Given the description of an element on the screen output the (x, y) to click on. 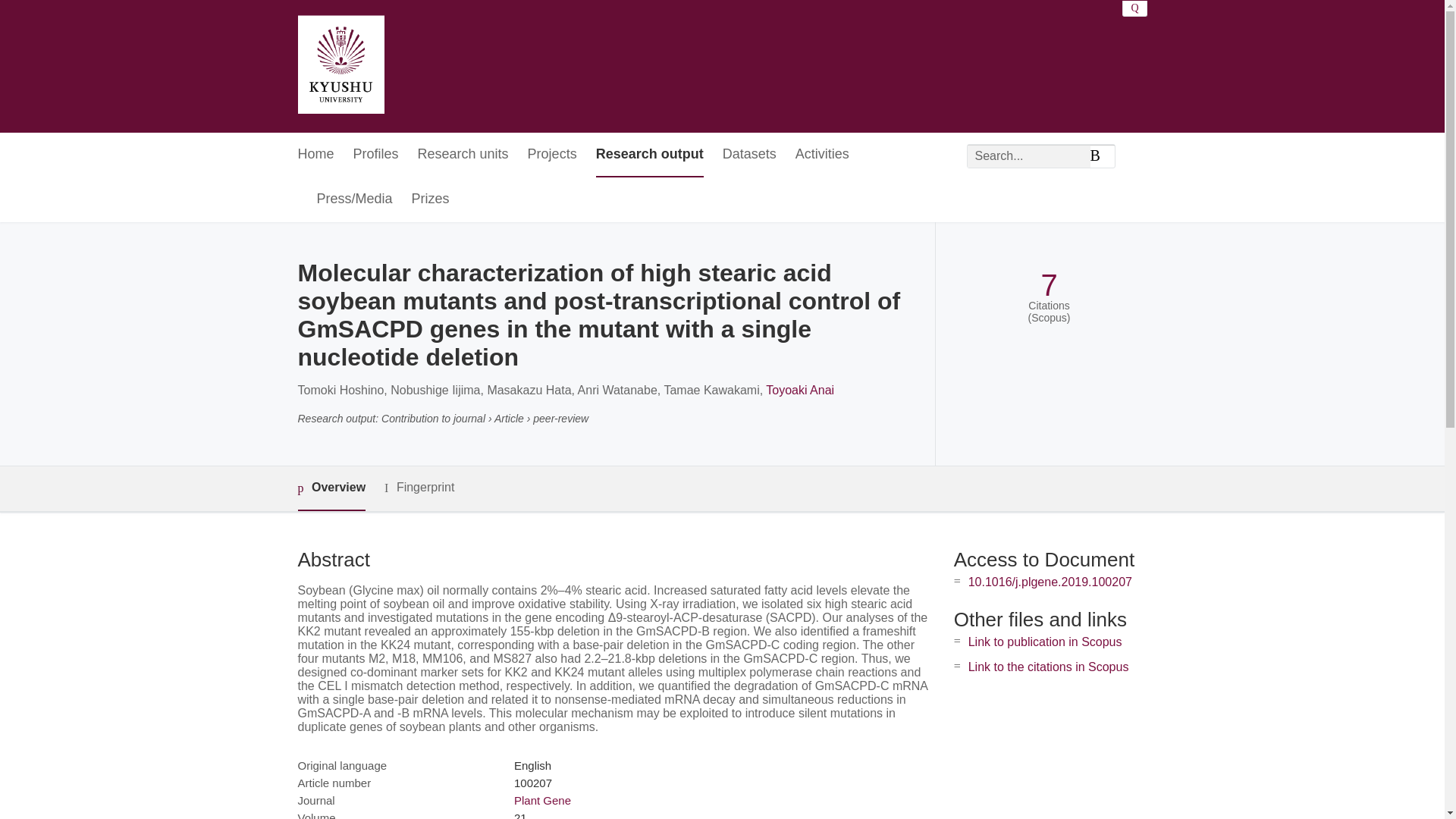
Profiles (375, 154)
Overview (331, 488)
Activities (821, 154)
Toyoaki Anai (799, 390)
Link to publication in Scopus (1045, 641)
Link to the citations in Scopus (1048, 666)
Fingerprint (419, 487)
Projects (551, 154)
Research units (462, 154)
Research output (649, 154)
